Given the description of an element on the screen output the (x, y) to click on. 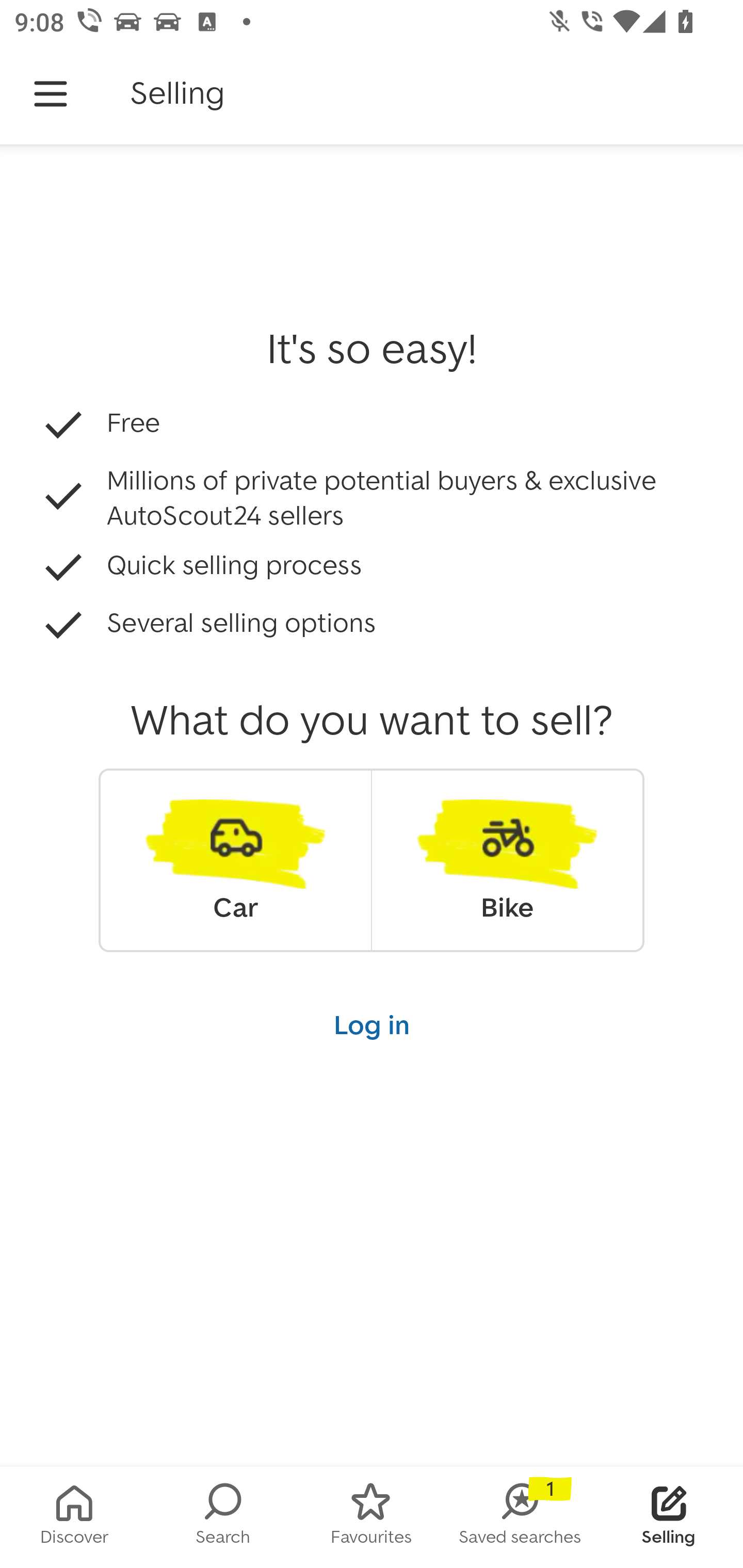
Navigate up (50, 93)
Car (235, 859)
Bike (507, 859)
Log in (371, 1024)
HOMESCREEN Discover (74, 1517)
SEARCH Search (222, 1517)
FAVORITES Favourites (371, 1517)
SAVED_SEARCHES Saved searches 1 (519, 1517)
STOCK_LIST Selling (668, 1517)
